Given the description of an element on the screen output the (x, y) to click on. 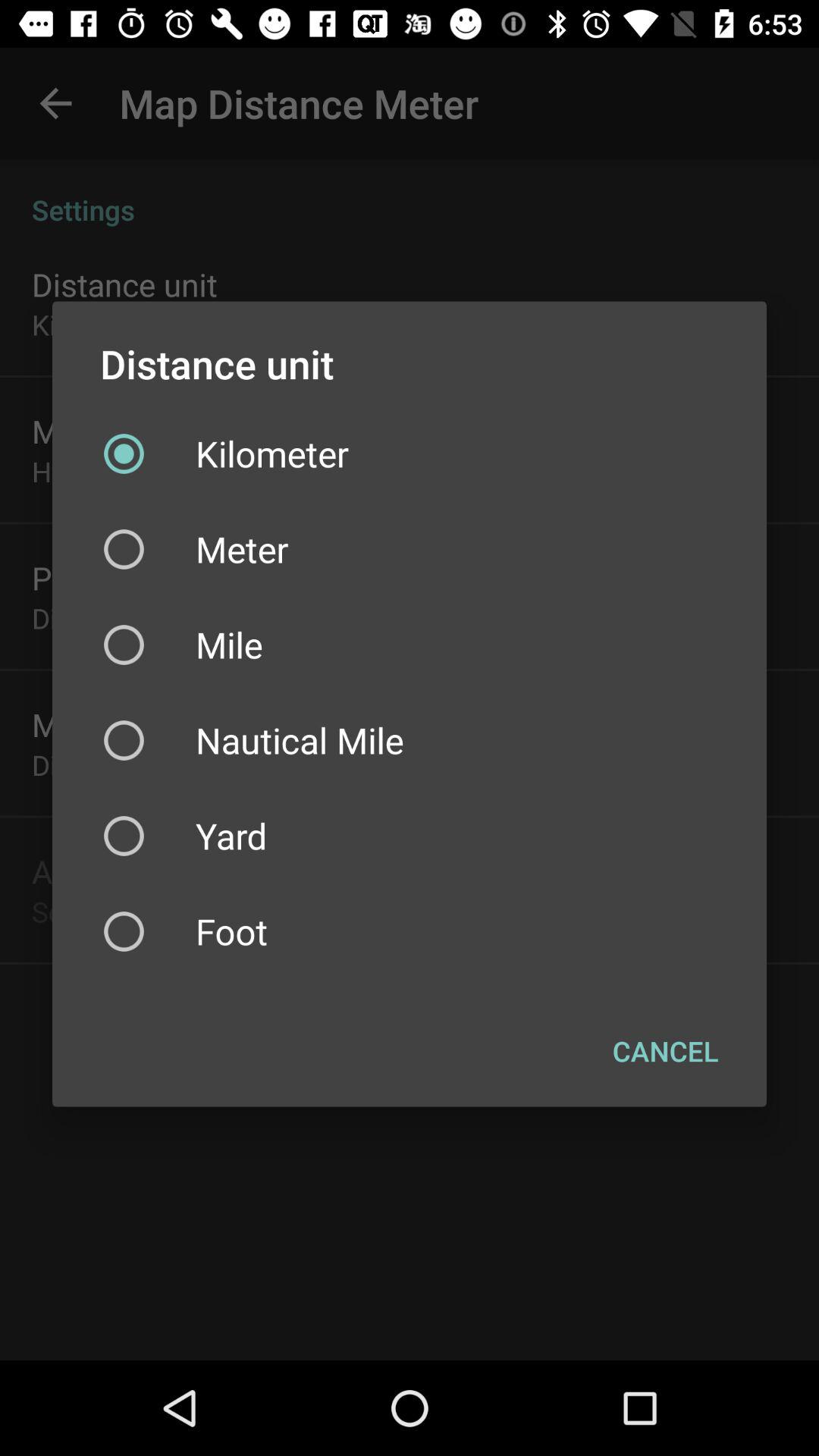
select the cancel at the bottom right corner (665, 1050)
